Given the description of an element on the screen output the (x, y) to click on. 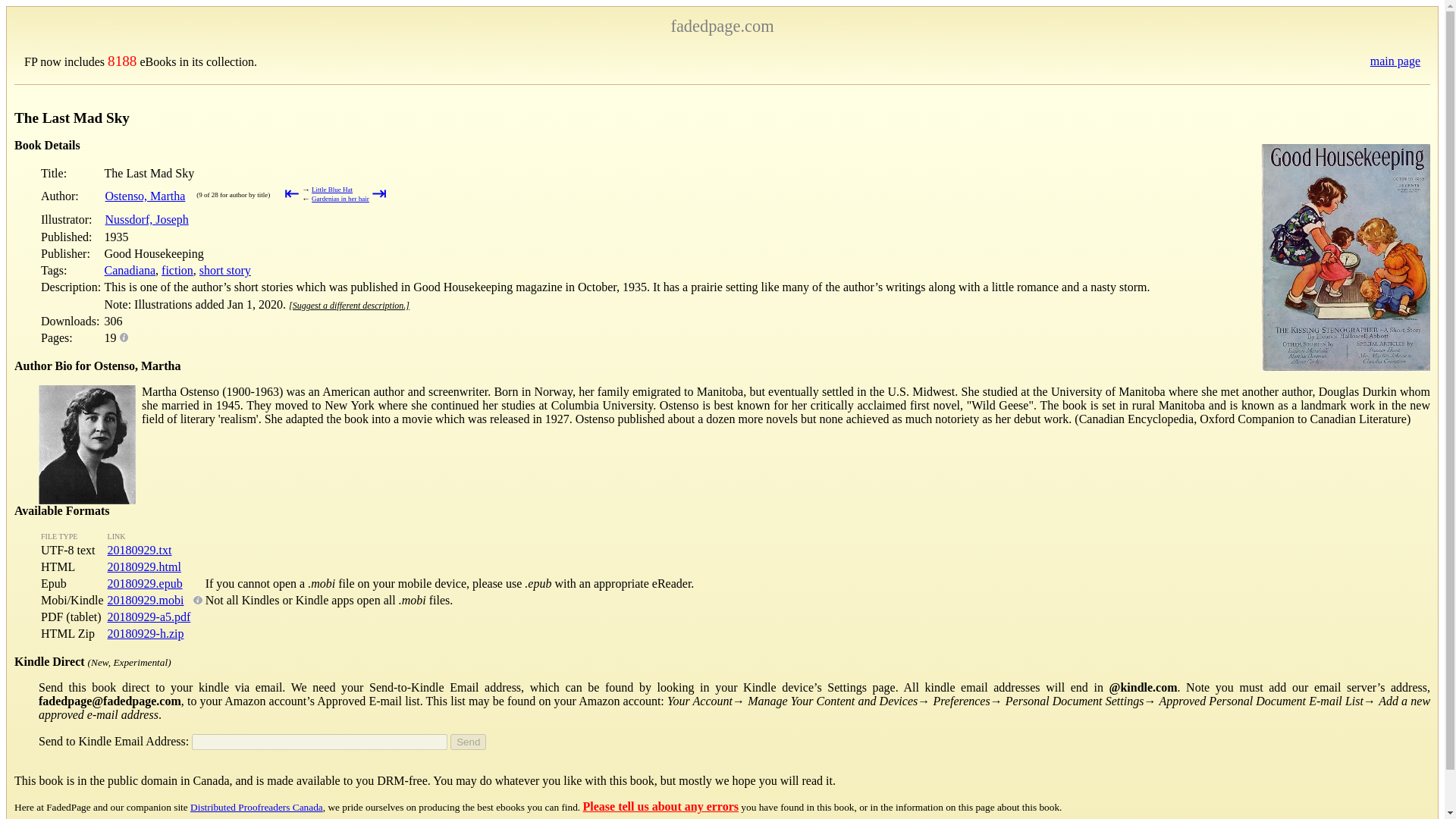
Ostenso, Martha (145, 195)
20180929.mobi (145, 599)
20180929.epub (145, 583)
Distributed Proofreaders Canada (256, 807)
20180929-a5.pdf (148, 616)
20180929.html (143, 566)
8188 (121, 60)
fiction (177, 269)
Canadiana (129, 269)
20180929.txt (139, 549)
Send (467, 741)
fadedpage.com (721, 26)
main page (1395, 60)
Nussdorf, Joseph (146, 219)
